Given the description of an element on the screen output the (x, y) to click on. 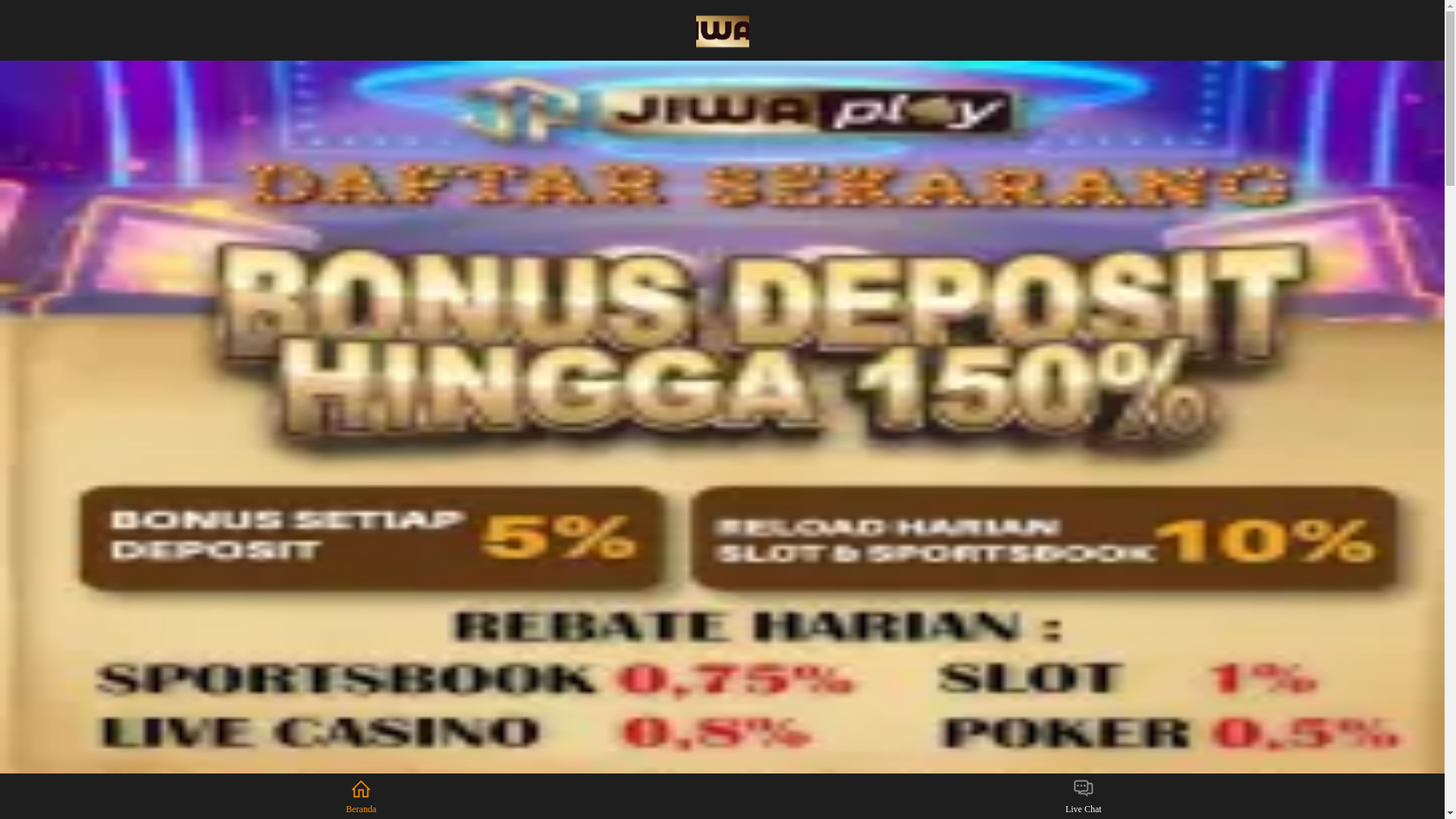
Live Chat Element type: text (1082, 796)
Beranda Element type: text (360, 796)
Previous item in carousel (1 of 1) Element type: hover (12, 439)
Next item in carousel (1 of 1) Element type: hover (1431, 439)
